Given the description of an element on the screen output the (x, y) to click on. 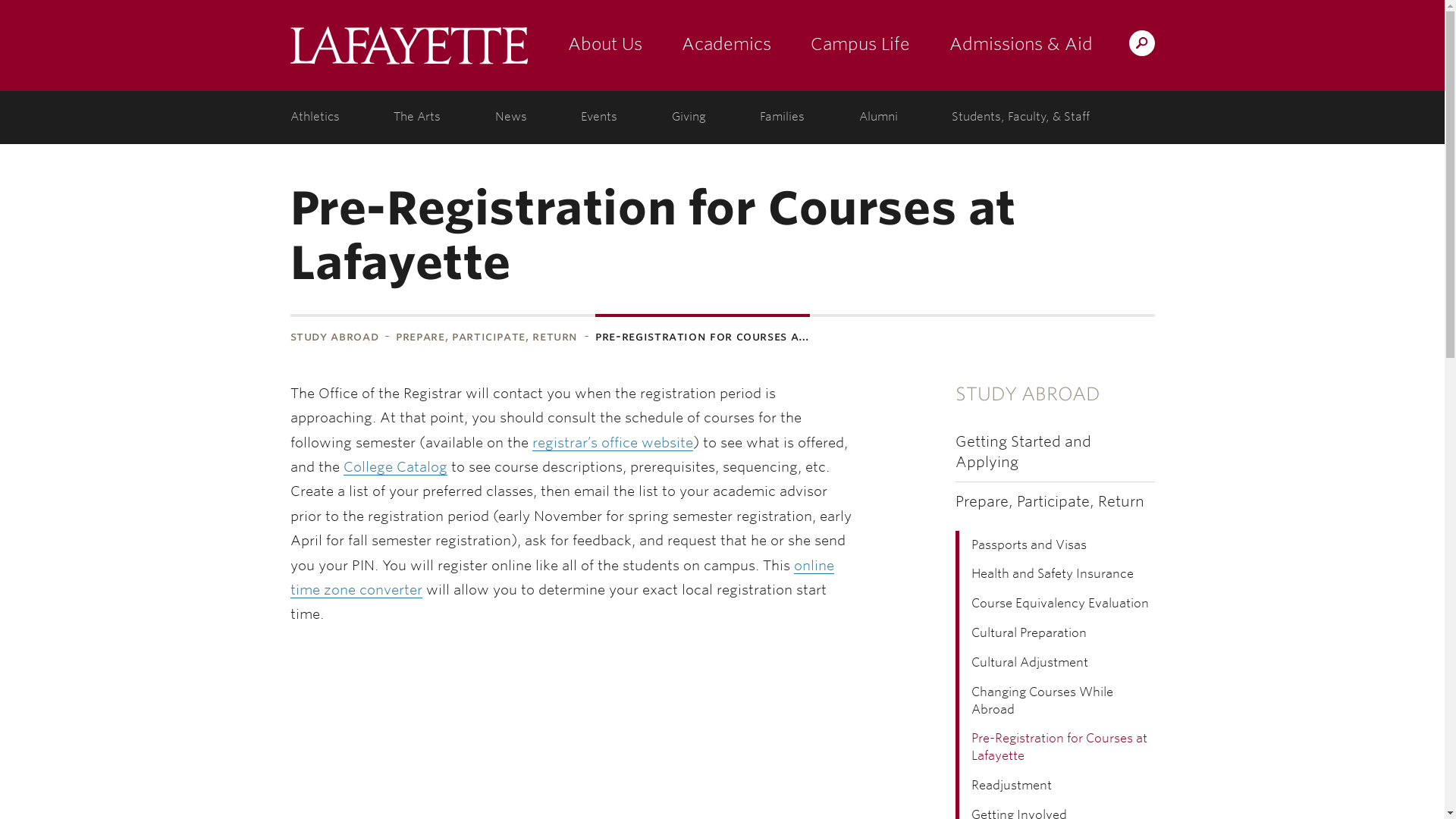
Academics (725, 45)
Search Lafayette.edu (1141, 43)
About Us (603, 45)
Search (842, 42)
Lafayette College (408, 45)
Campus Life (859, 45)
